Given the description of an element on the screen output the (x, y) to click on. 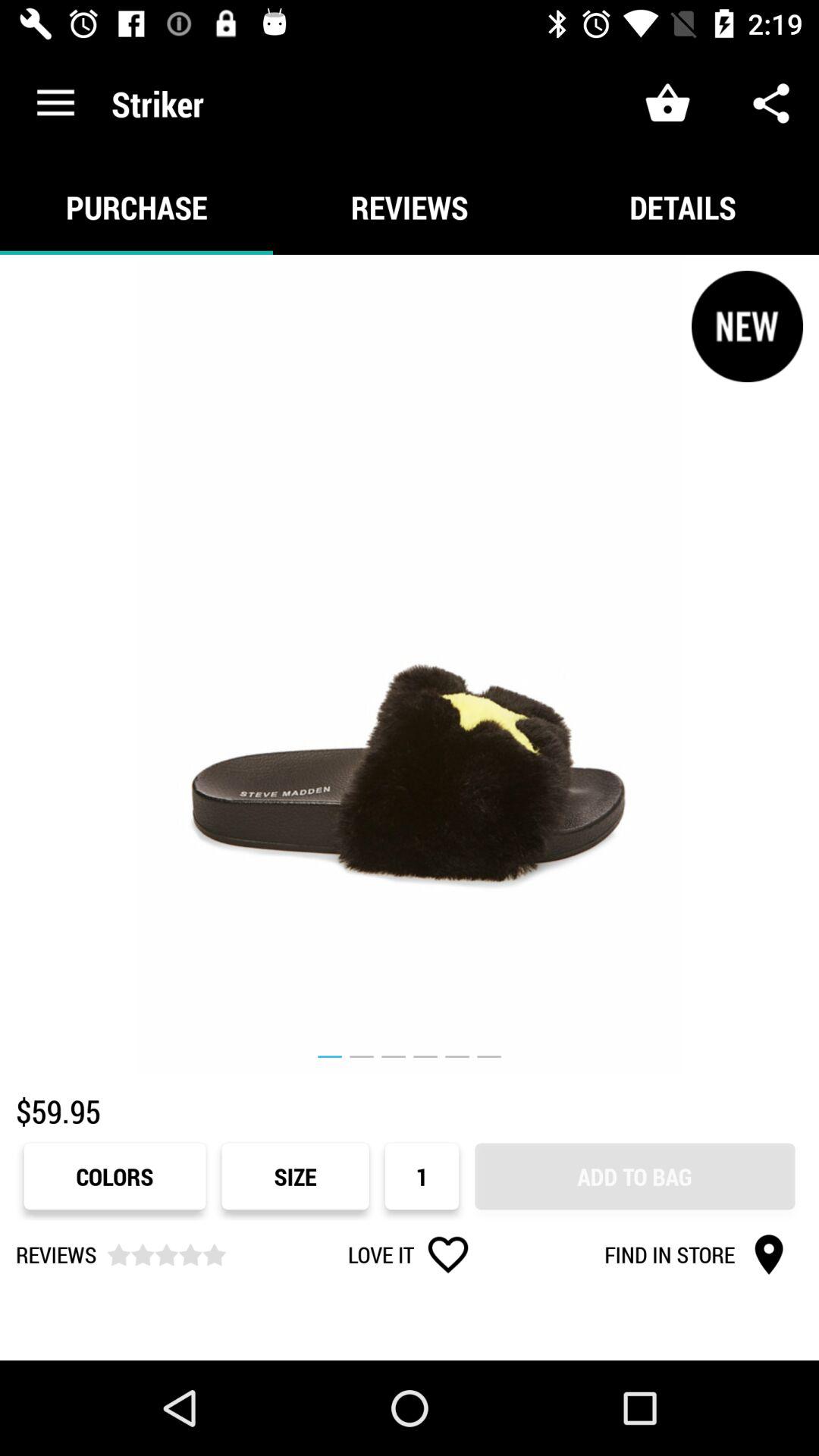
select icon above purchase item (55, 103)
